Given the description of an element on the screen output the (x, y) to click on. 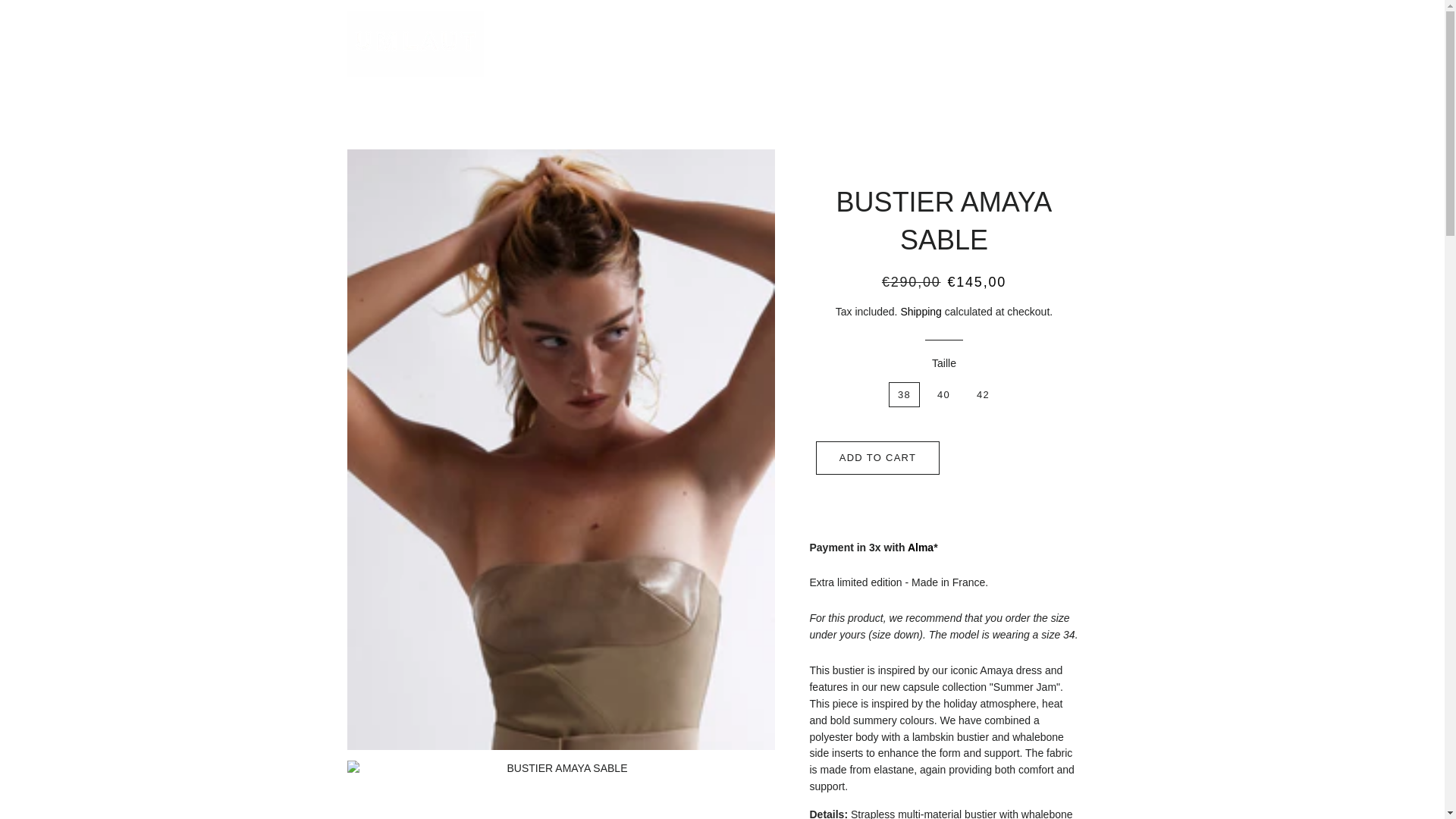
Alma (920, 547)
Shipping (920, 311)
ADD TO CART (877, 458)
